Given the description of an element on the screen output the (x, y) to click on. 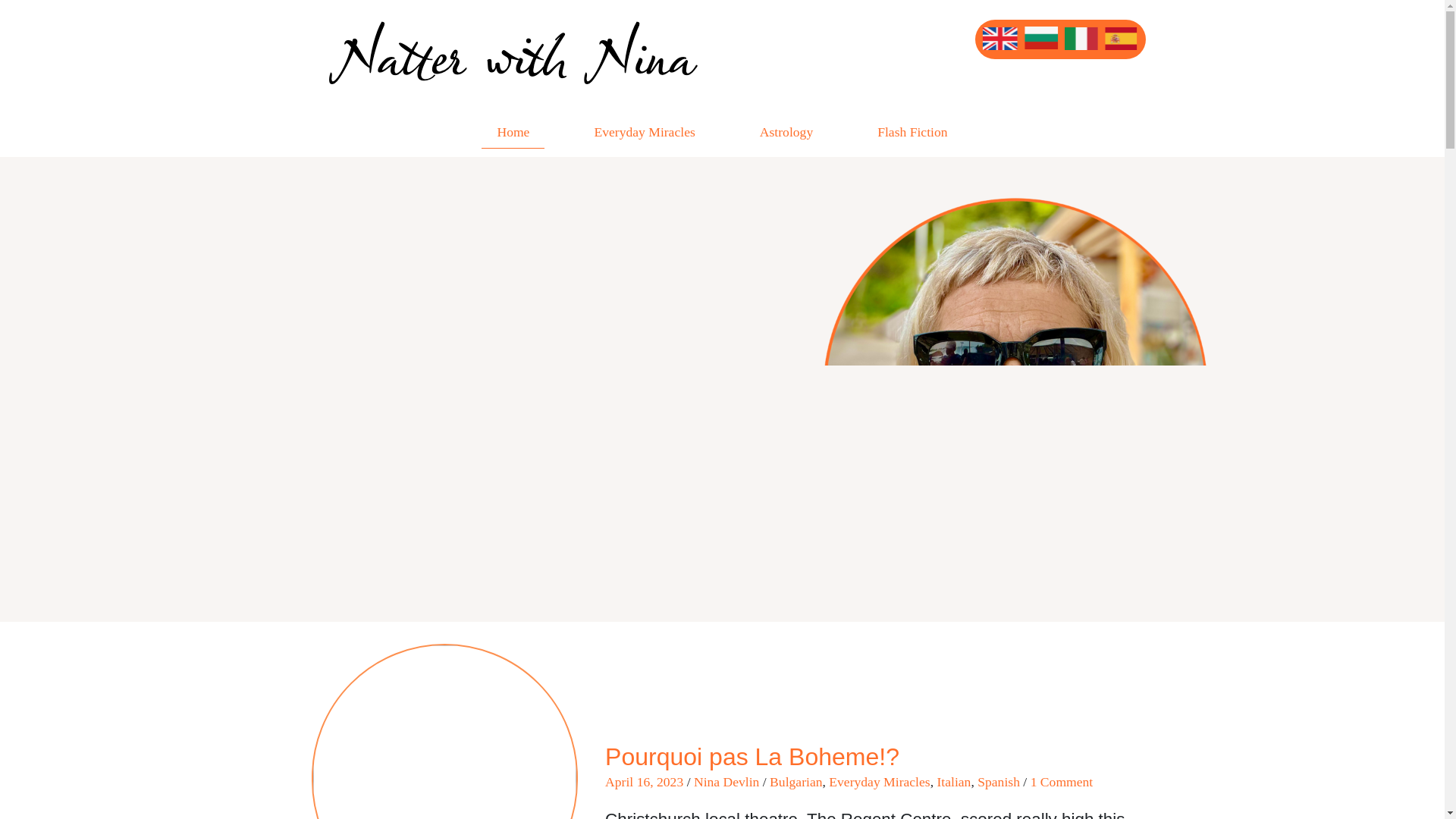
Pourquoi pas La Boheme!? (752, 756)
April 16, 2023 (643, 781)
Everyday Miracles (644, 132)
Nina Devlin (726, 781)
Bulgarian (796, 781)
Italian (953, 781)
Spanish (998, 781)
Astrology (786, 132)
Everyday Miracles (879, 781)
Flash Fiction (911, 132)
Home (512, 132)
1 Comment (1061, 781)
